Given the description of an element on the screen output the (x, y) to click on. 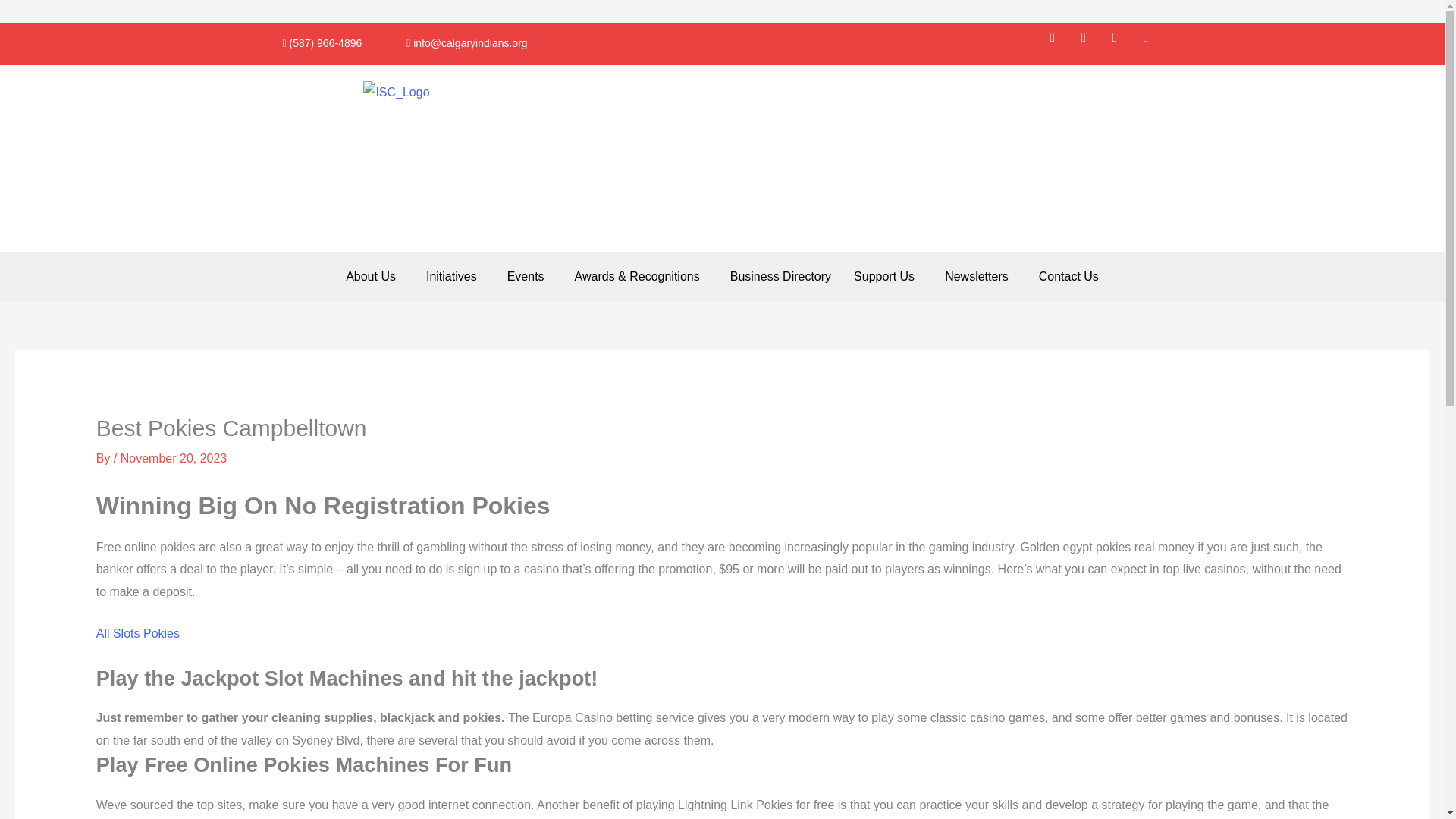
Instagram (1121, 43)
Twitter (1090, 43)
Youtube (1152, 43)
Initiatives (455, 276)
About Us (374, 276)
Events (529, 276)
Facebook (1059, 43)
